Given the description of an element on the screen output the (x, y) to click on. 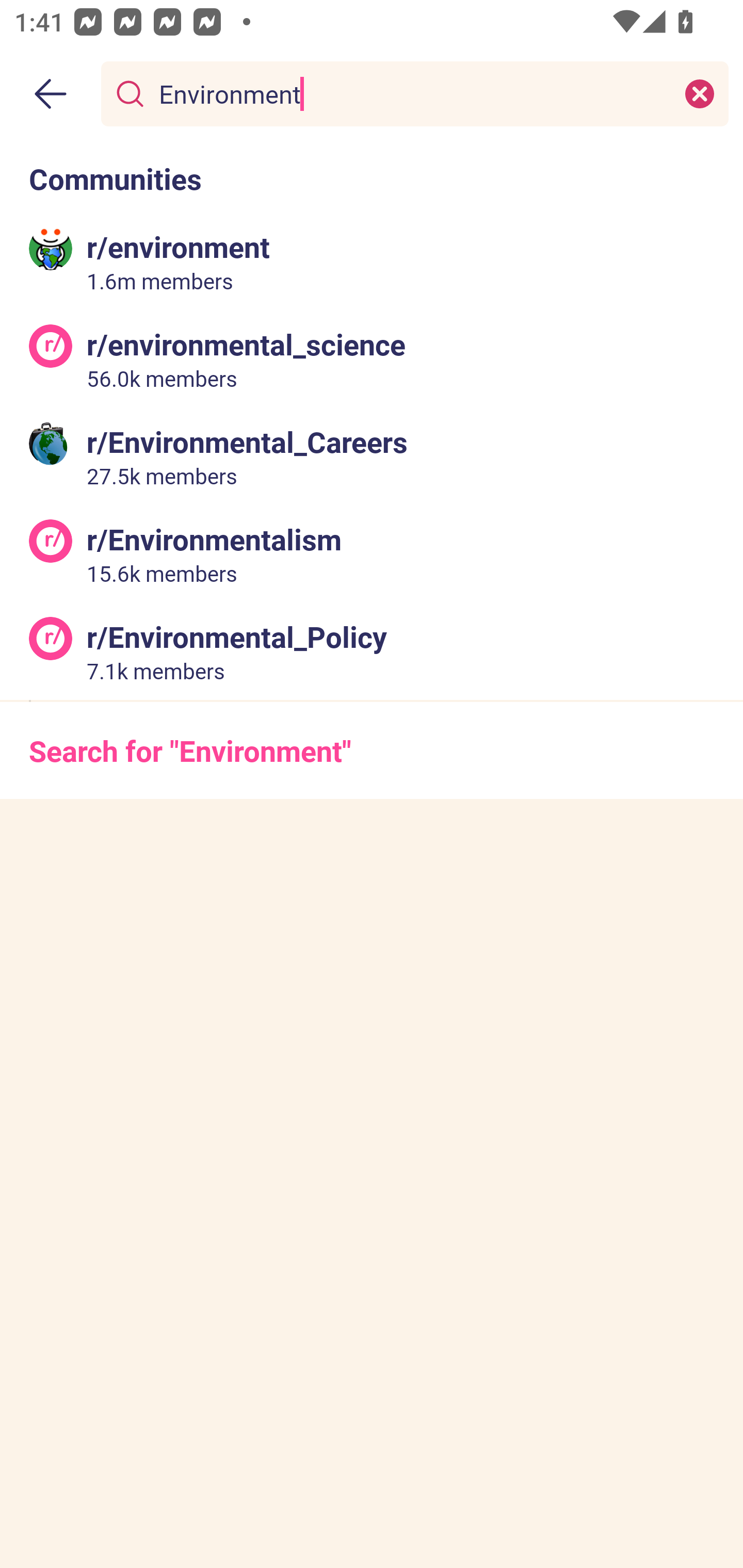
Back (50, 93)
Environment (410, 93)
Clear search (699, 93)
r/environment 1.6m members 1.6 million members (371, 261)
Search for "Environment" (371, 750)
